Given the description of an element on the screen output the (x, y) to click on. 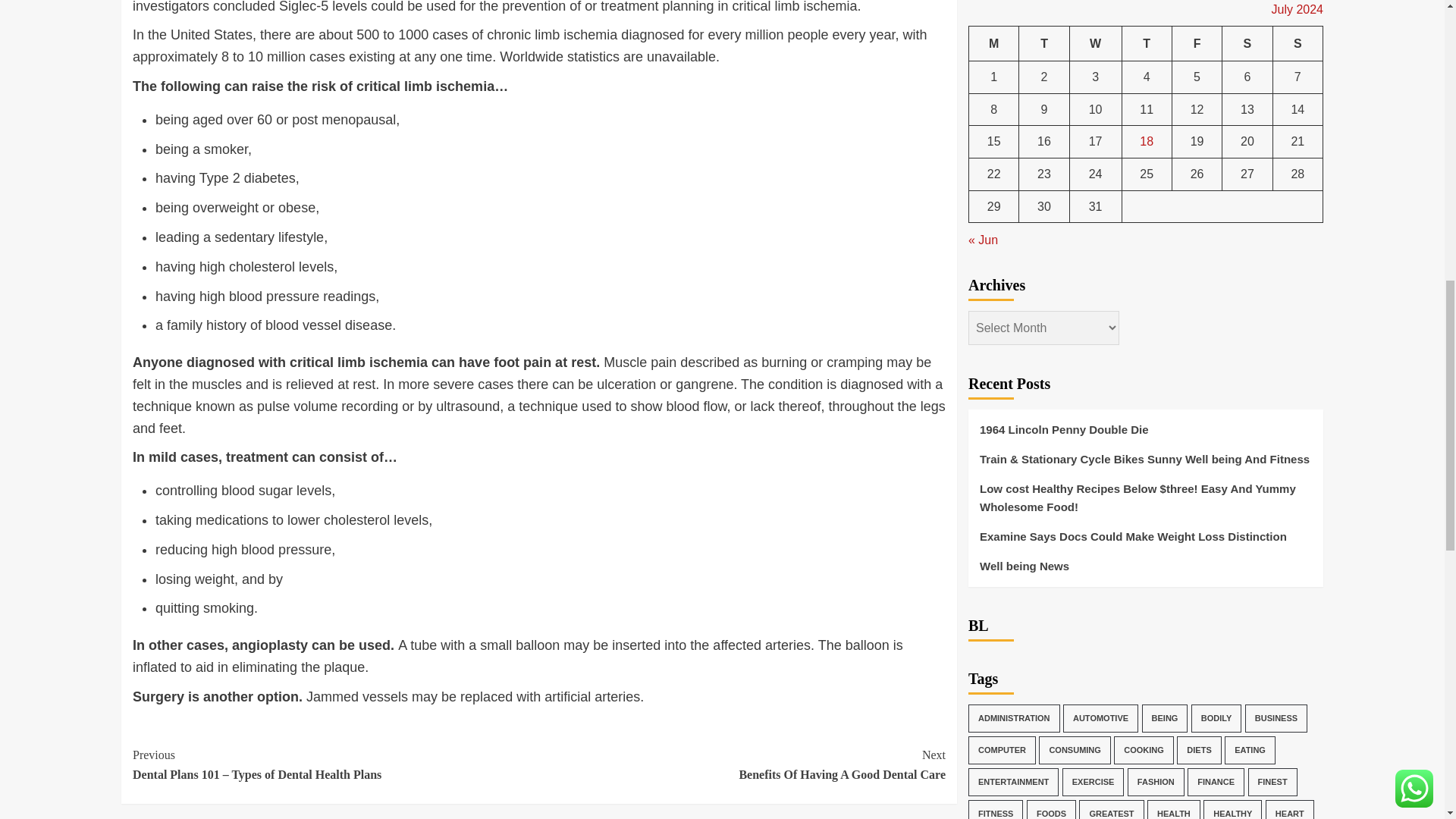
Seedbacklink (741, 764)
